Given the description of an element on the screen output the (x, y) to click on. 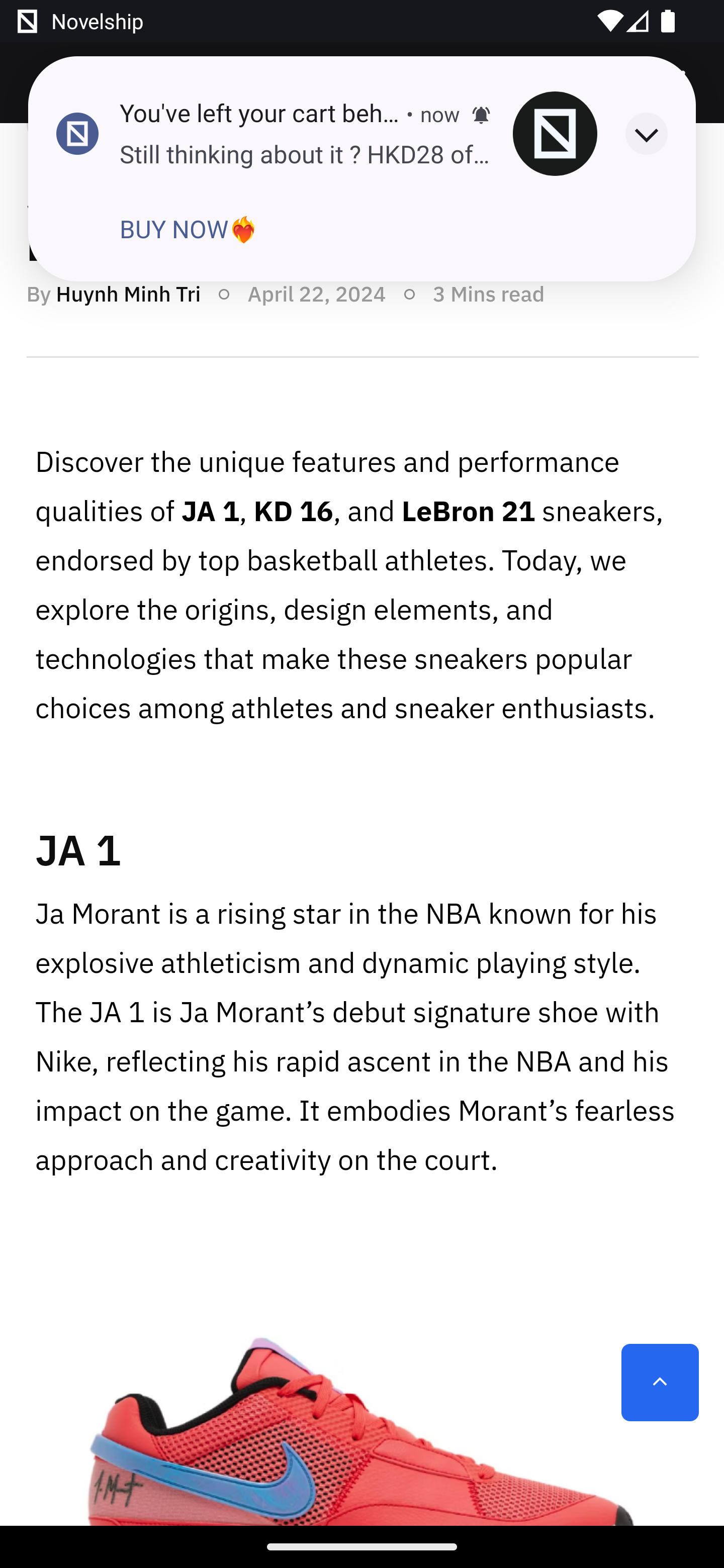
Huynh Minh Tri (127, 293)
Nike Ja 1 EP 'Fuel' DR8786‑800 (361, 1386)
Scroll to top  (659, 1382)
